Given the description of an element on the screen output the (x, y) to click on. 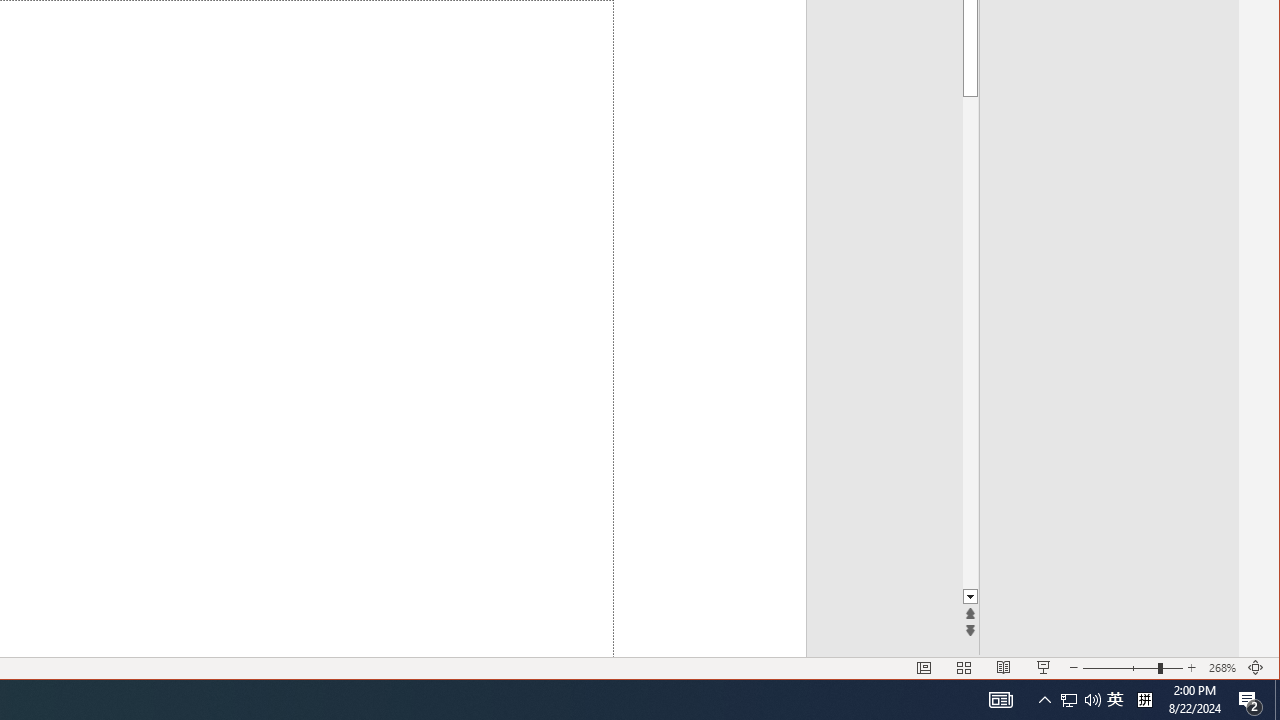
Zoom 268% (1222, 668)
